Given the description of an element on the screen output the (x, y) to click on. 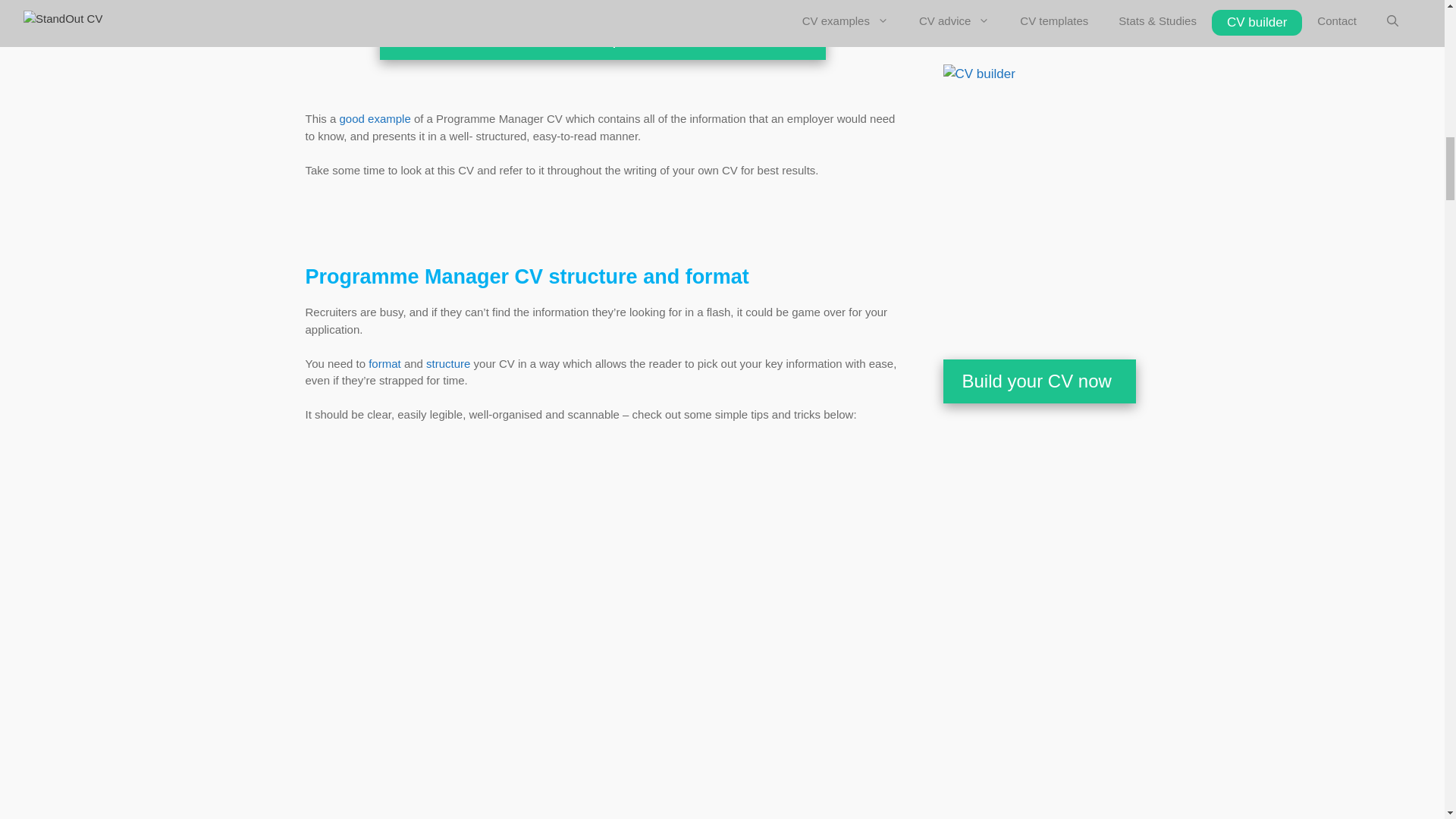
CV format (384, 363)
CV structure (448, 363)
CV example (374, 118)
